Given the description of an element on the screen output the (x, y) to click on. 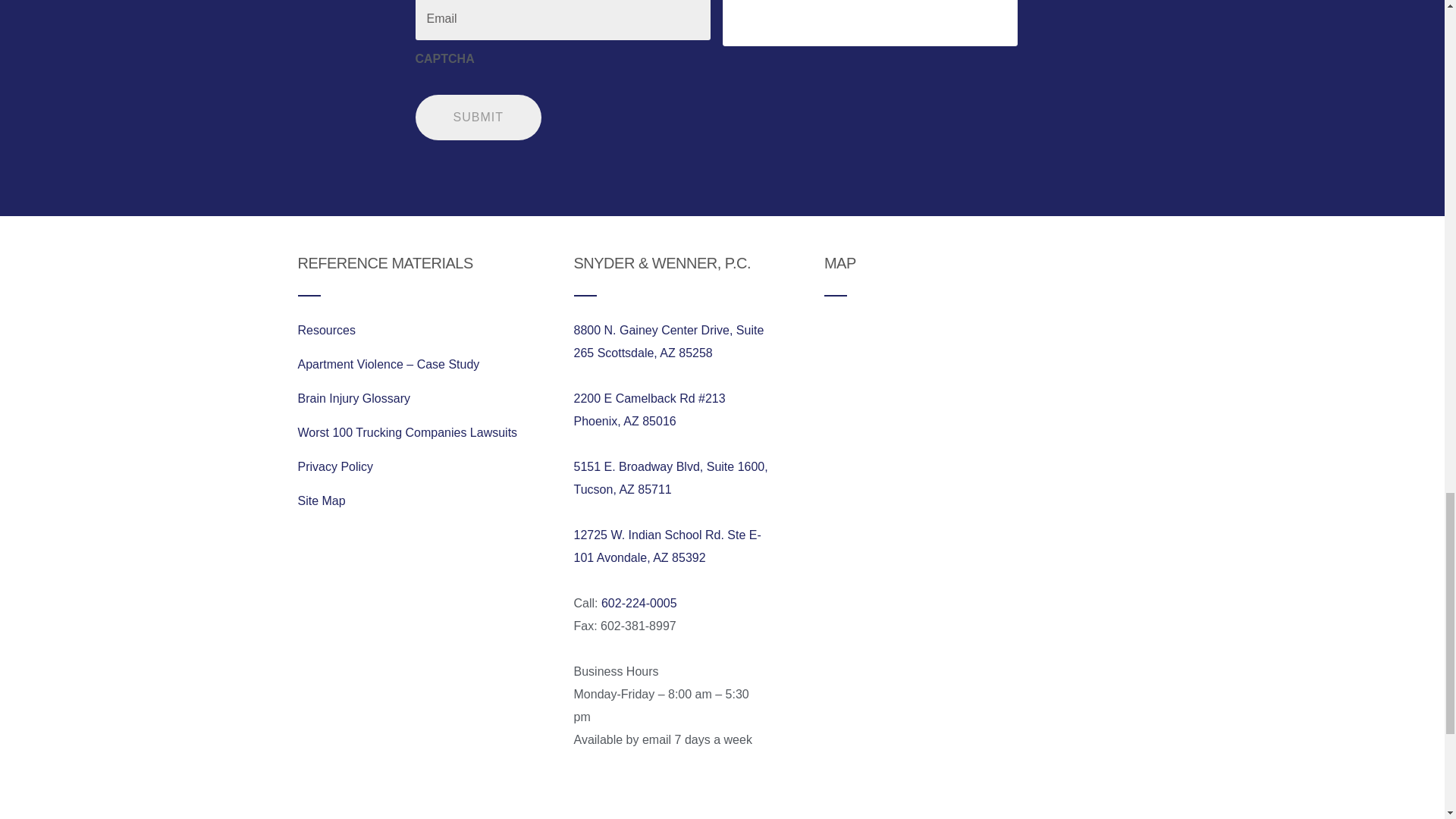
Submit (477, 117)
